Given the description of an element on the screen output the (x, y) to click on. 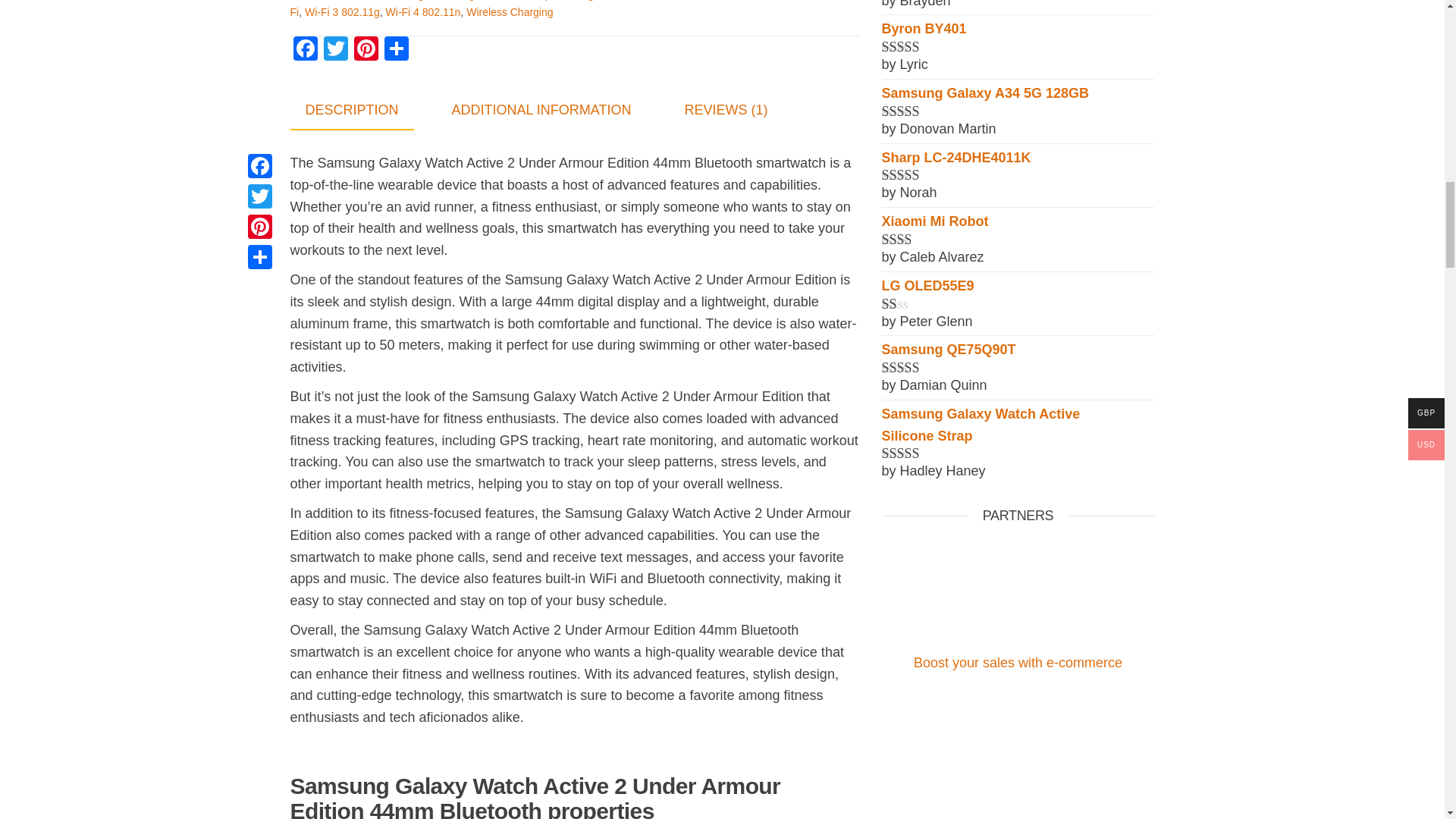
Pinterest (365, 50)
Facebook (304, 50)
Twitter (335, 50)
